Given the description of an element on the screen output the (x, y) to click on. 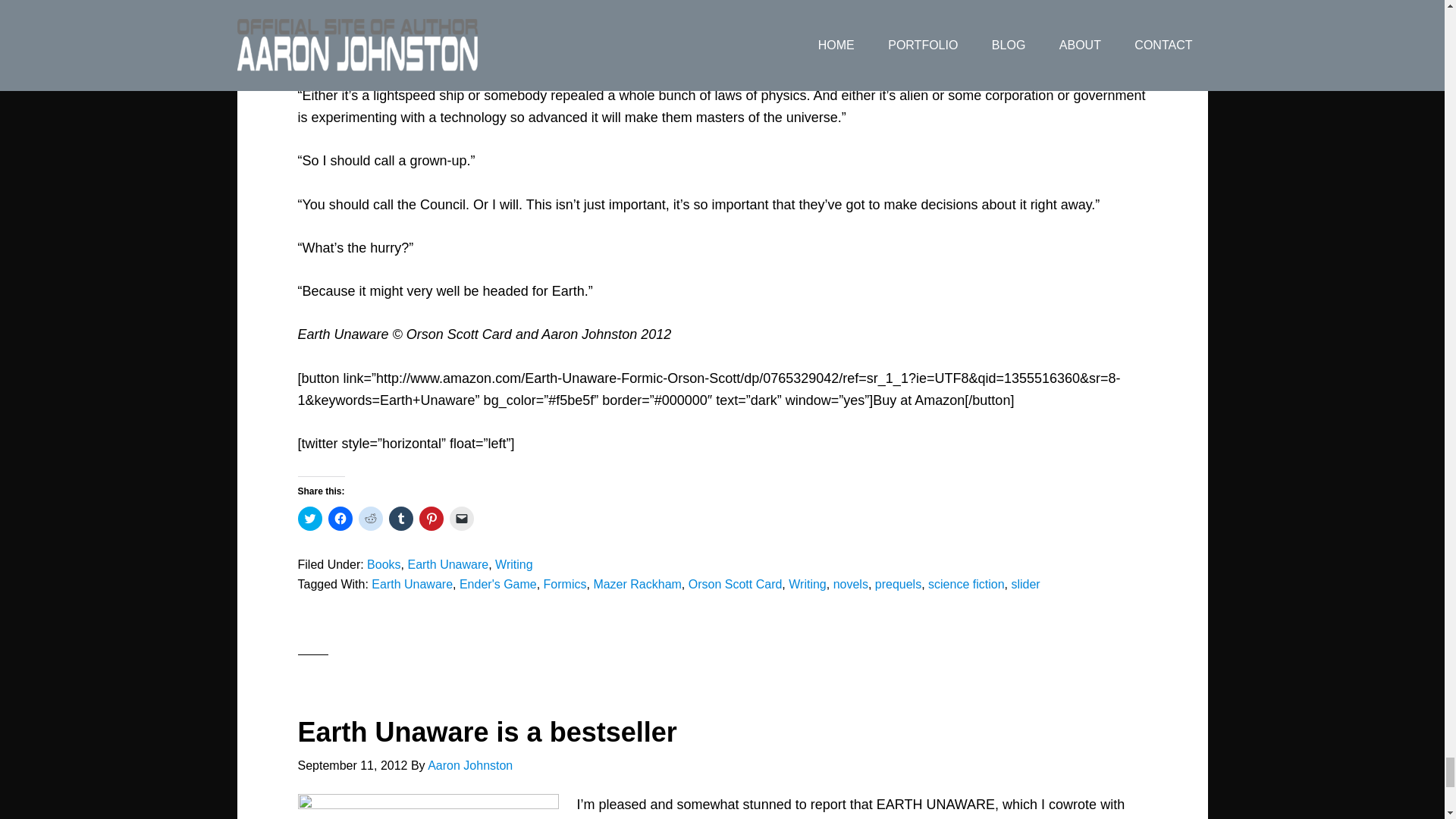
Click to share on Facebook (339, 518)
Click to share on Tumblr (400, 518)
Click to share on Twitter (309, 518)
Click to share on Reddit (369, 518)
